Given the description of an element on the screen output the (x, y) to click on. 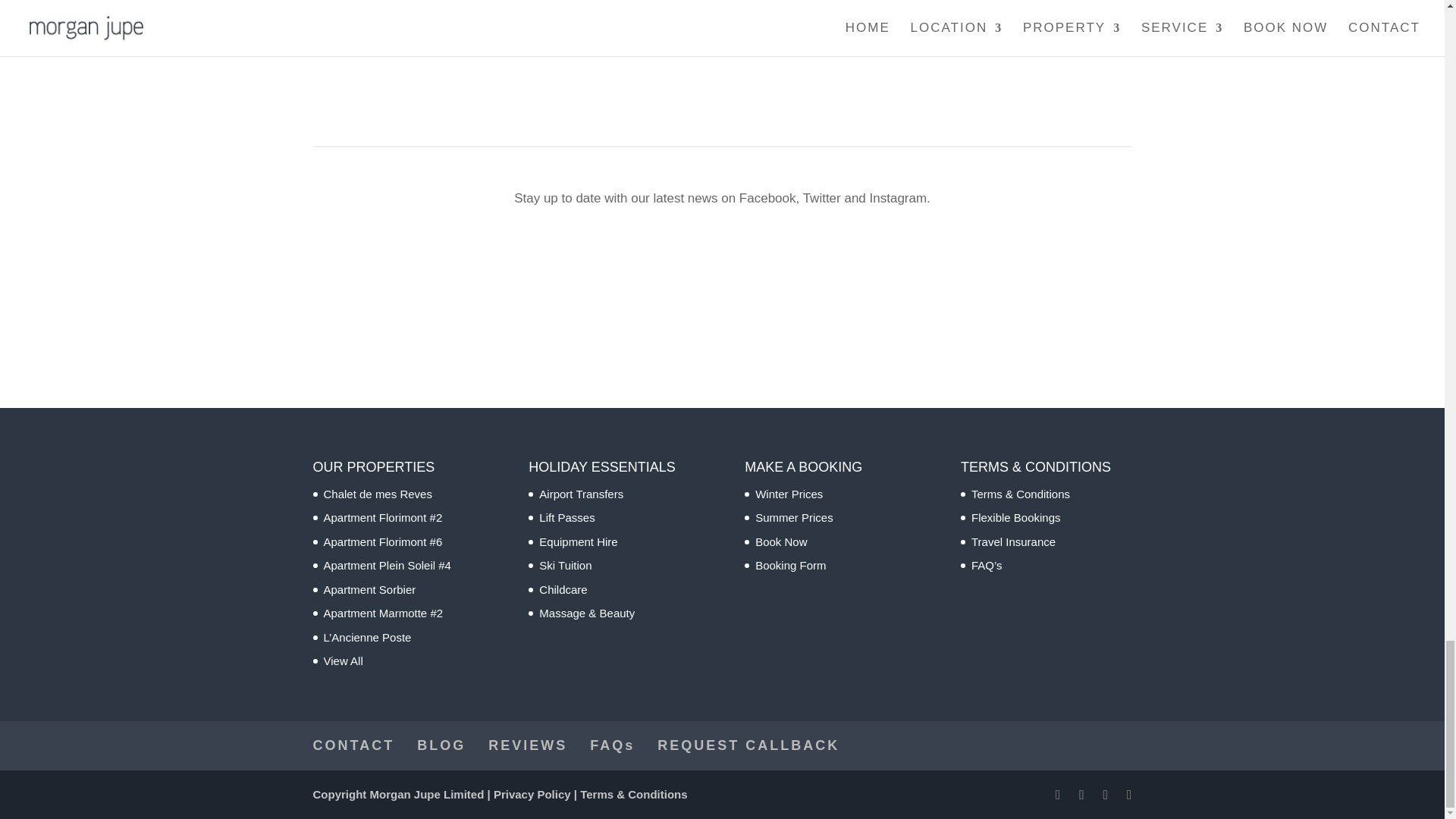
Follow on Instagram (758, 246)
Follow on Twitter (728, 246)
Follow on Facebook (697, 246)
